Given the description of an element on the screen output the (x, y) to click on. 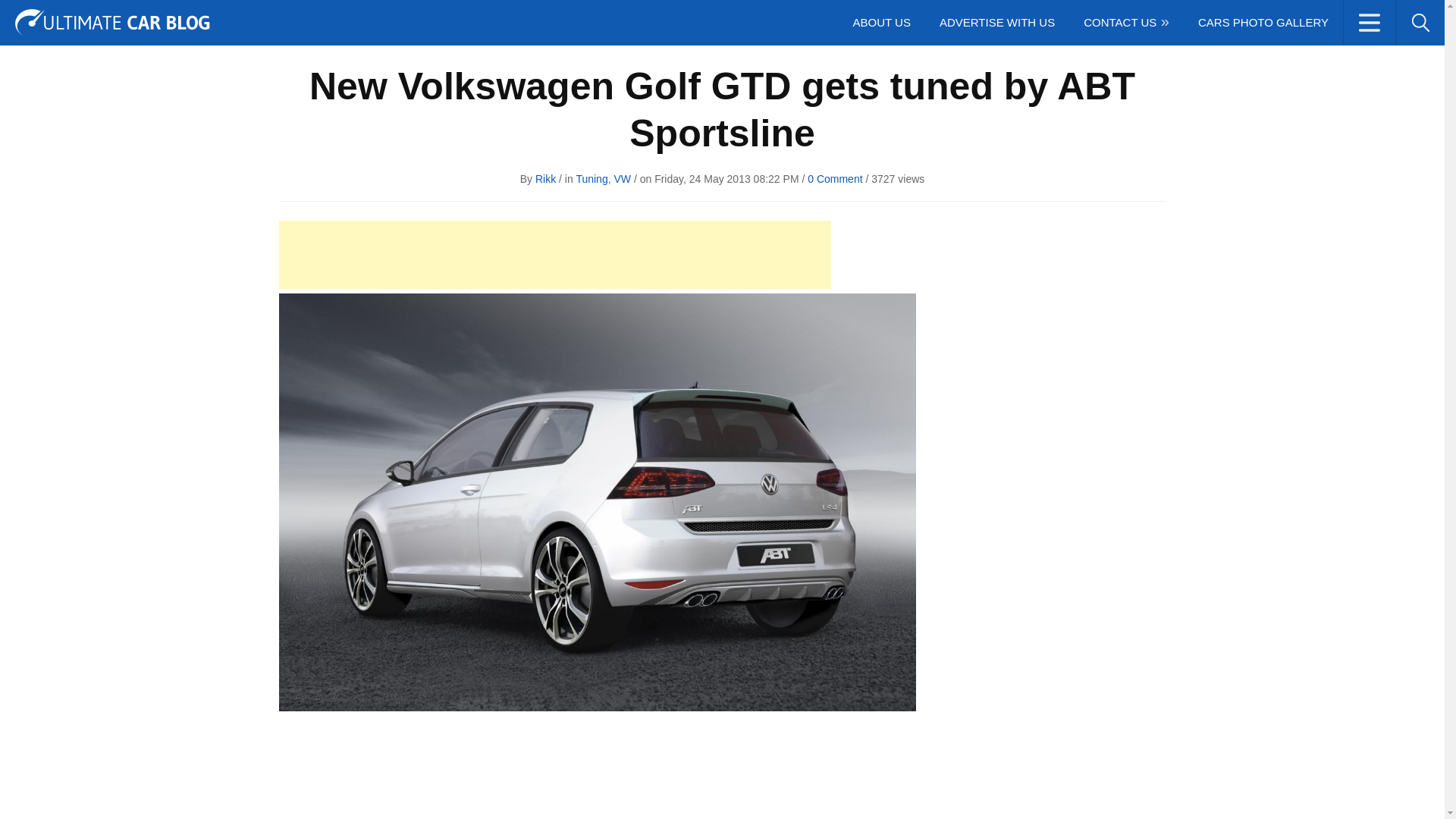
CARS PHOTO GALLERY (1262, 22)
VW (621, 178)
ABOUT US (881, 22)
CONTACT US (1125, 22)
Rikk (545, 178)
Facebook (1277, 16)
pinterest (1389, 16)
0 Comment (834, 178)
instagram (1362, 16)
Electric (266, 16)
